Given the description of an element on the screen output the (x, y) to click on. 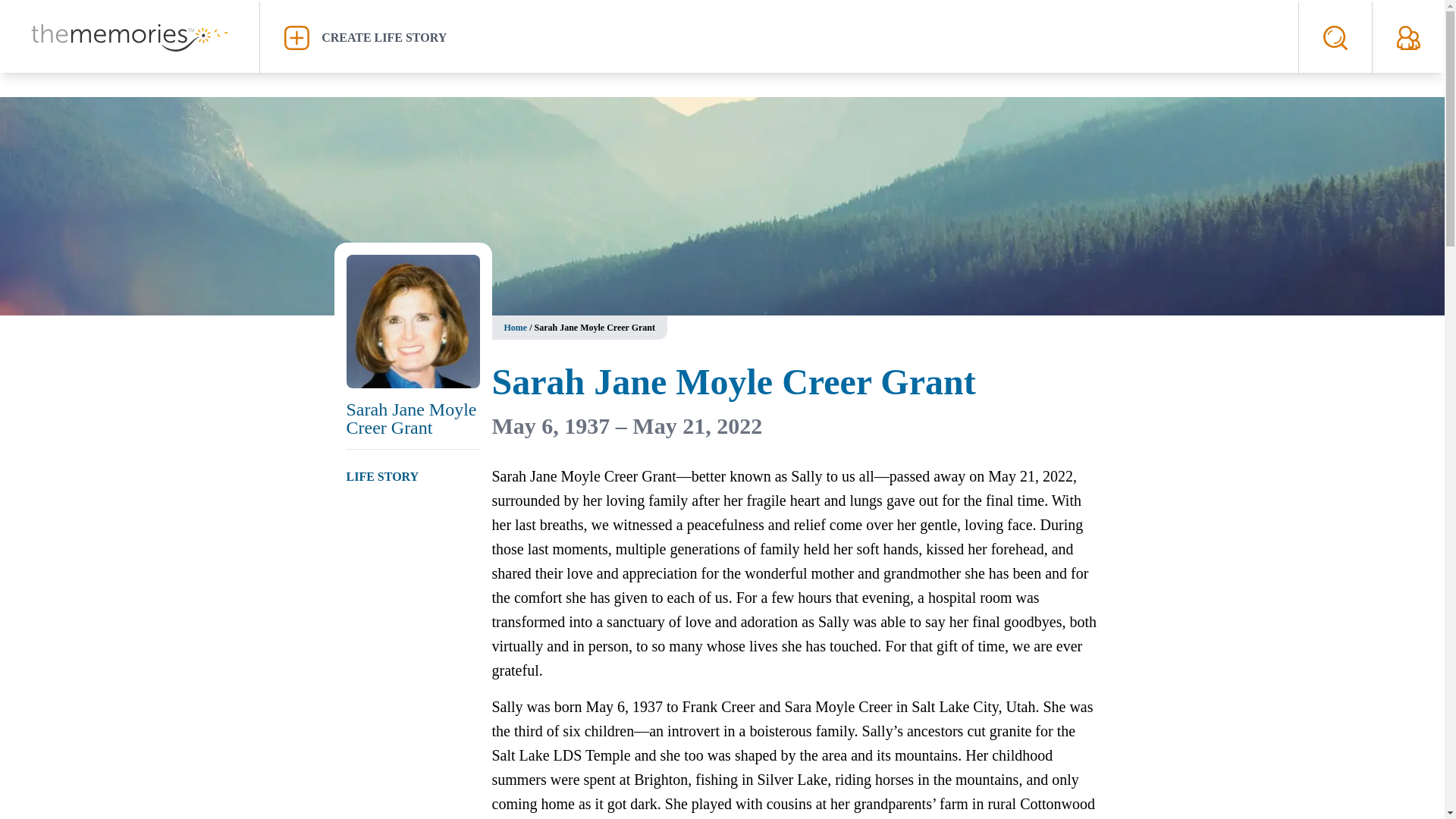
CREATE LIFE STORY (778, 37)
LIFE STORY (382, 476)
Create a life story (778, 37)
Home (515, 327)
My Account (1408, 37)
